Given the description of an element on the screen output the (x, y) to click on. 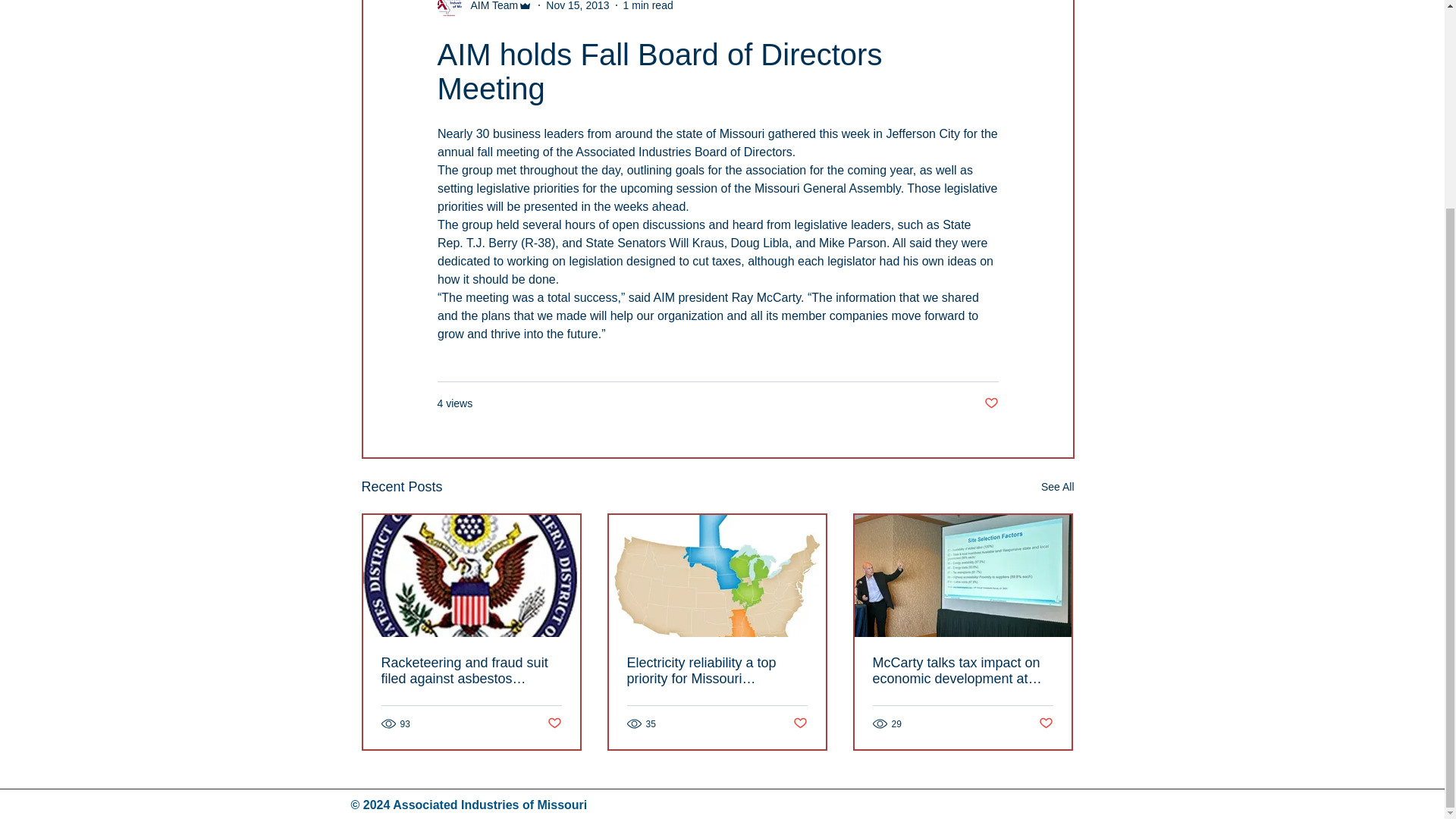
See All (1057, 486)
Post not marked as liked (991, 403)
Post not marked as liked (1045, 723)
1 min read (647, 5)
Post not marked as liked (554, 723)
Nov 15, 2013 (577, 5)
Post not marked as liked (800, 723)
AIM Team (489, 6)
